Given the description of an element on the screen output the (x, y) to click on. 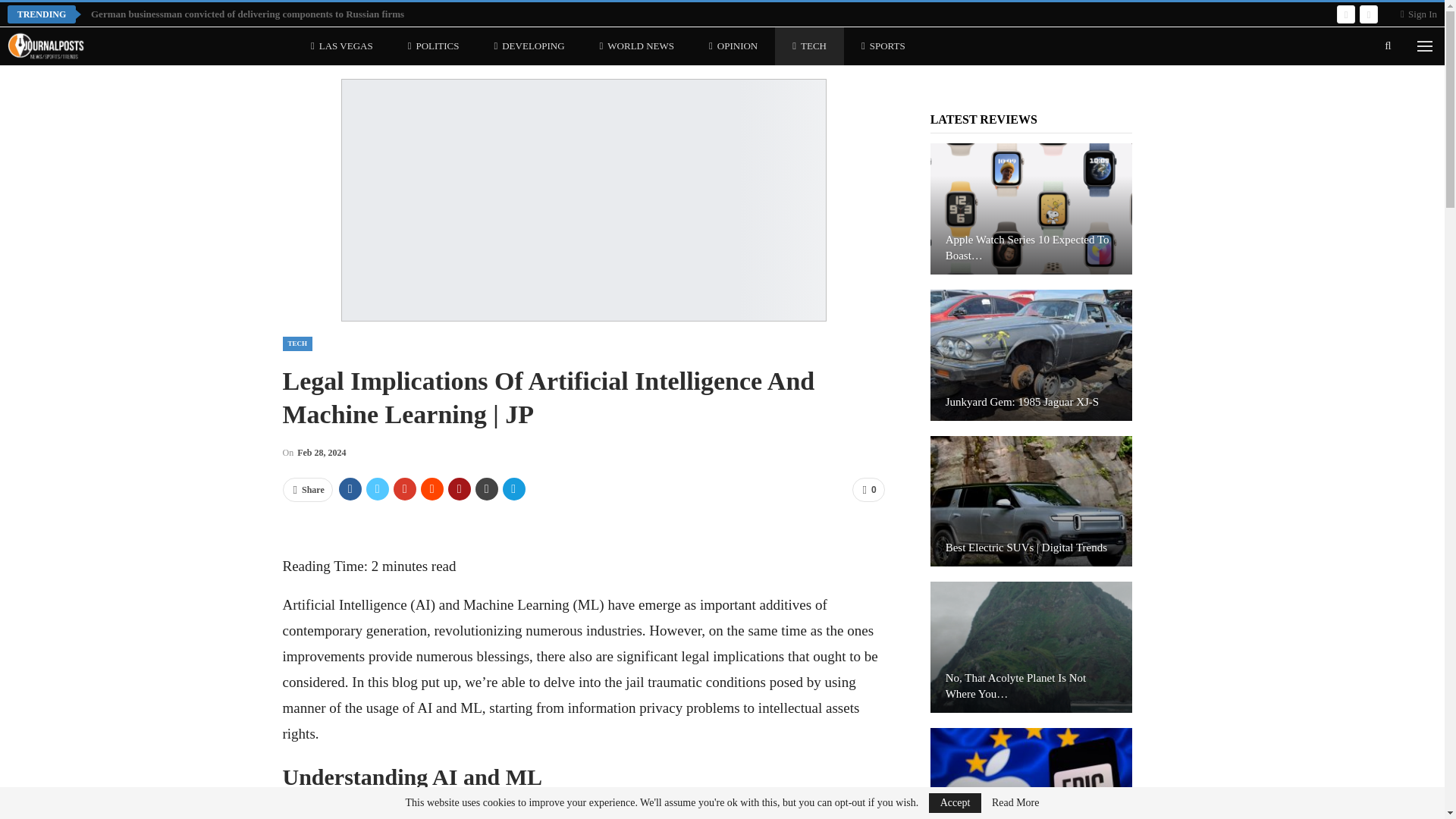
0 (868, 489)
WORLD NEWS (637, 46)
OPINION (732, 46)
LAS VEGAS (342, 46)
TECH (297, 343)
POLITICS (433, 46)
SPORTS (883, 46)
Sign In (1418, 13)
DEVELOPING (528, 46)
TECH (809, 46)
